Given the description of an element on the screen output the (x, y) to click on. 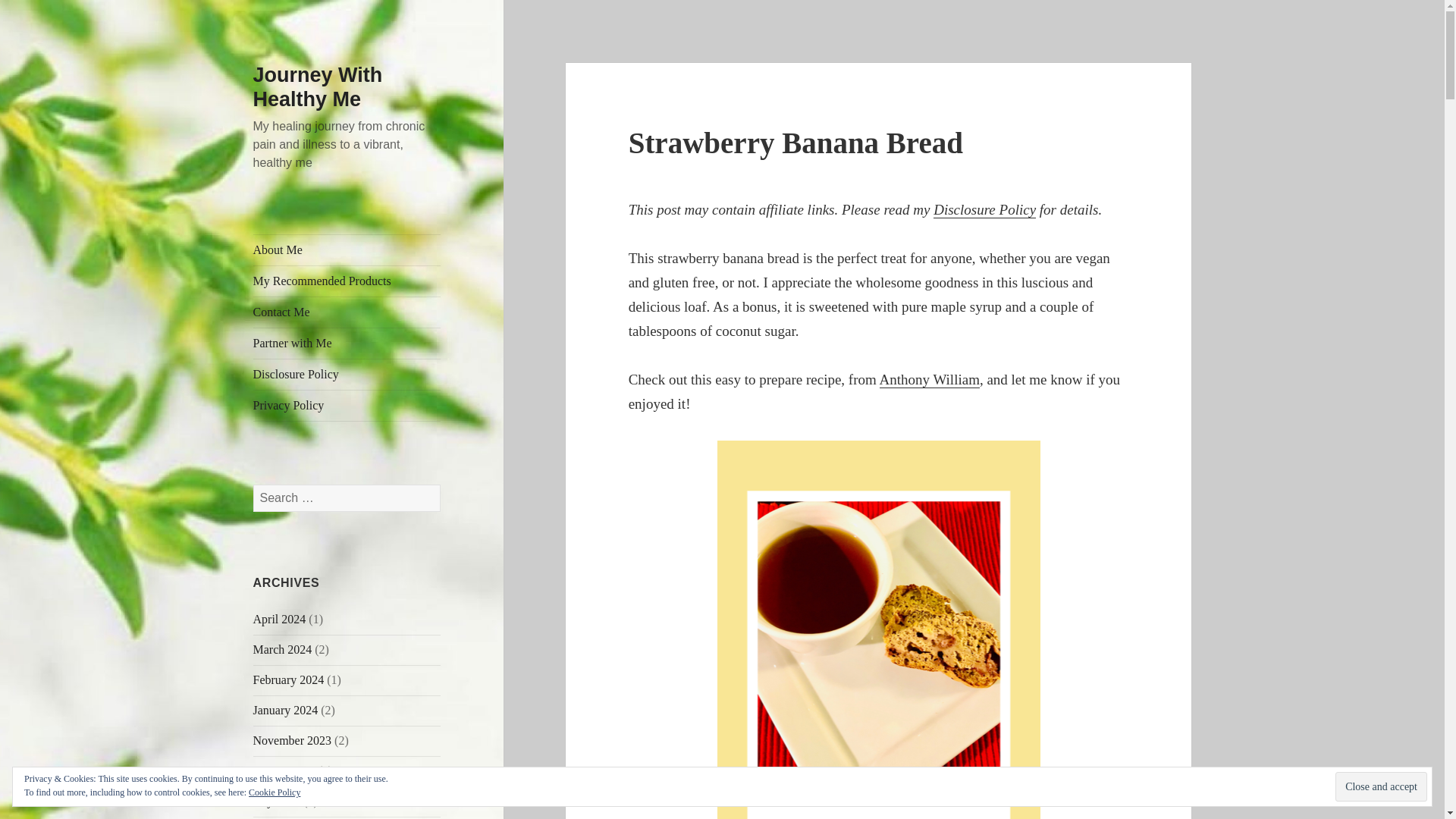
Contact Me (347, 312)
Partner with Me (347, 343)
March 2024 (283, 649)
Close and accept (1380, 786)
My Recommended Products (347, 281)
February 2024 (288, 679)
About Me (347, 250)
July 2023 (277, 800)
Disclosure Policy (347, 374)
January 2024 (285, 709)
April 2024 (279, 618)
Privacy Policy (347, 405)
